Given the description of an element on the screen output the (x, y) to click on. 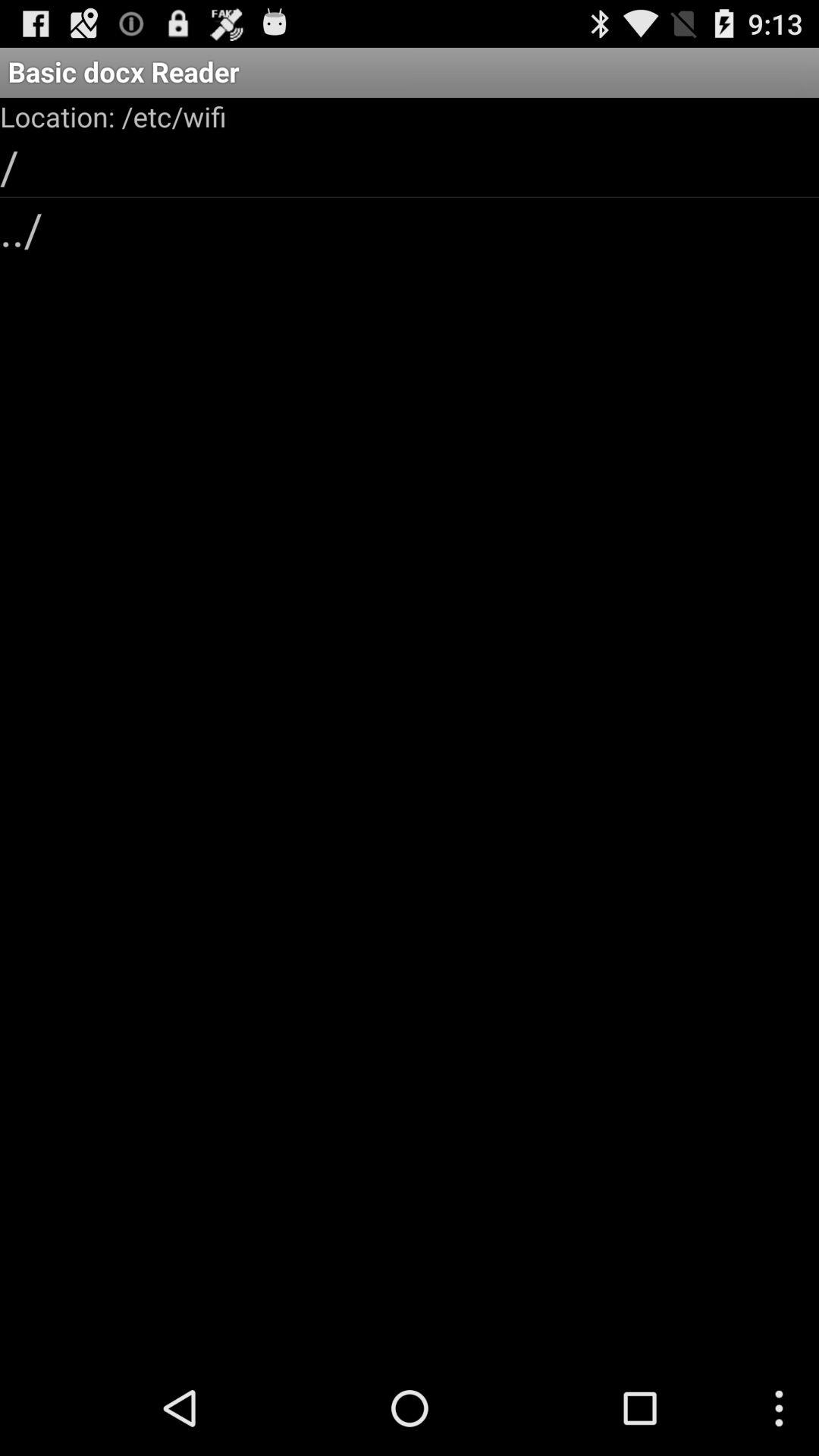
choose app below / app (409, 228)
